Given the description of an element on the screen output the (x, y) to click on. 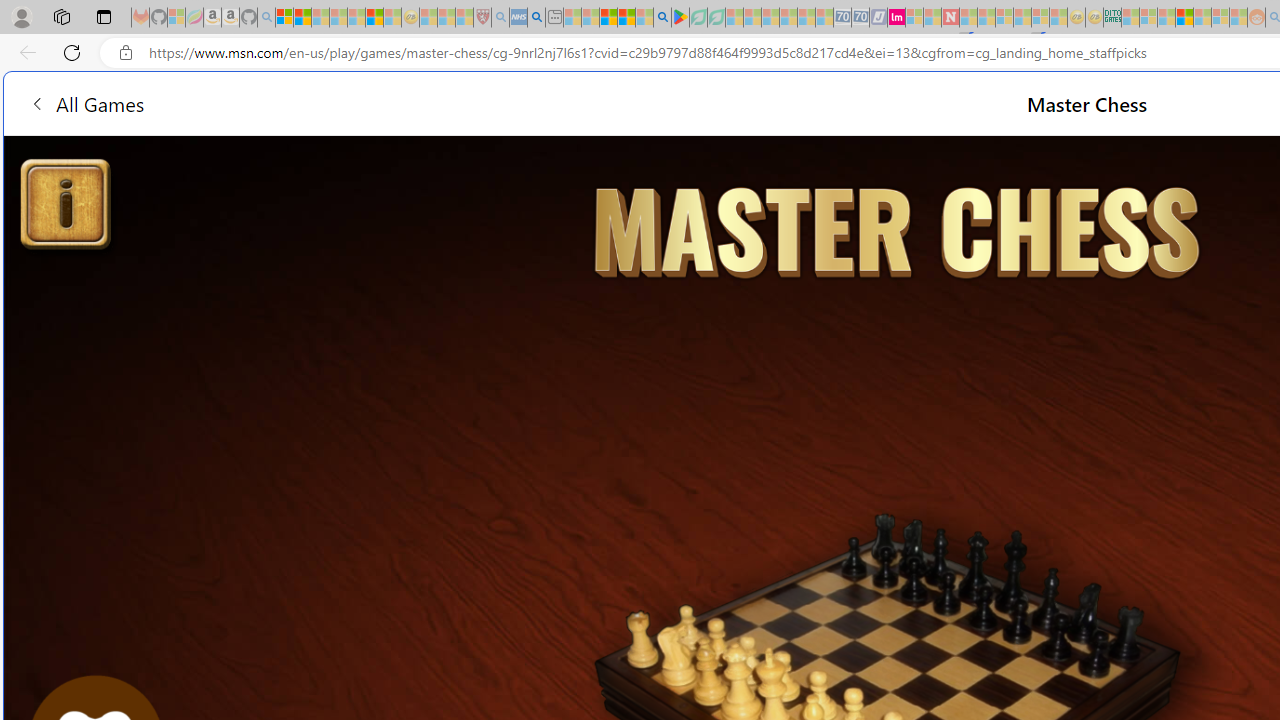
Pets - MSN (626, 17)
All Games (380, 102)
Expert Portfolios (1184, 17)
Terms of Use Agreement - Sleeping (697, 17)
Jobs - lastminute.com Investor Portal - Sleeping (896, 17)
MSNBC - MSN - Sleeping (1130, 17)
